Given the description of an element on the screen output the (x, y) to click on. 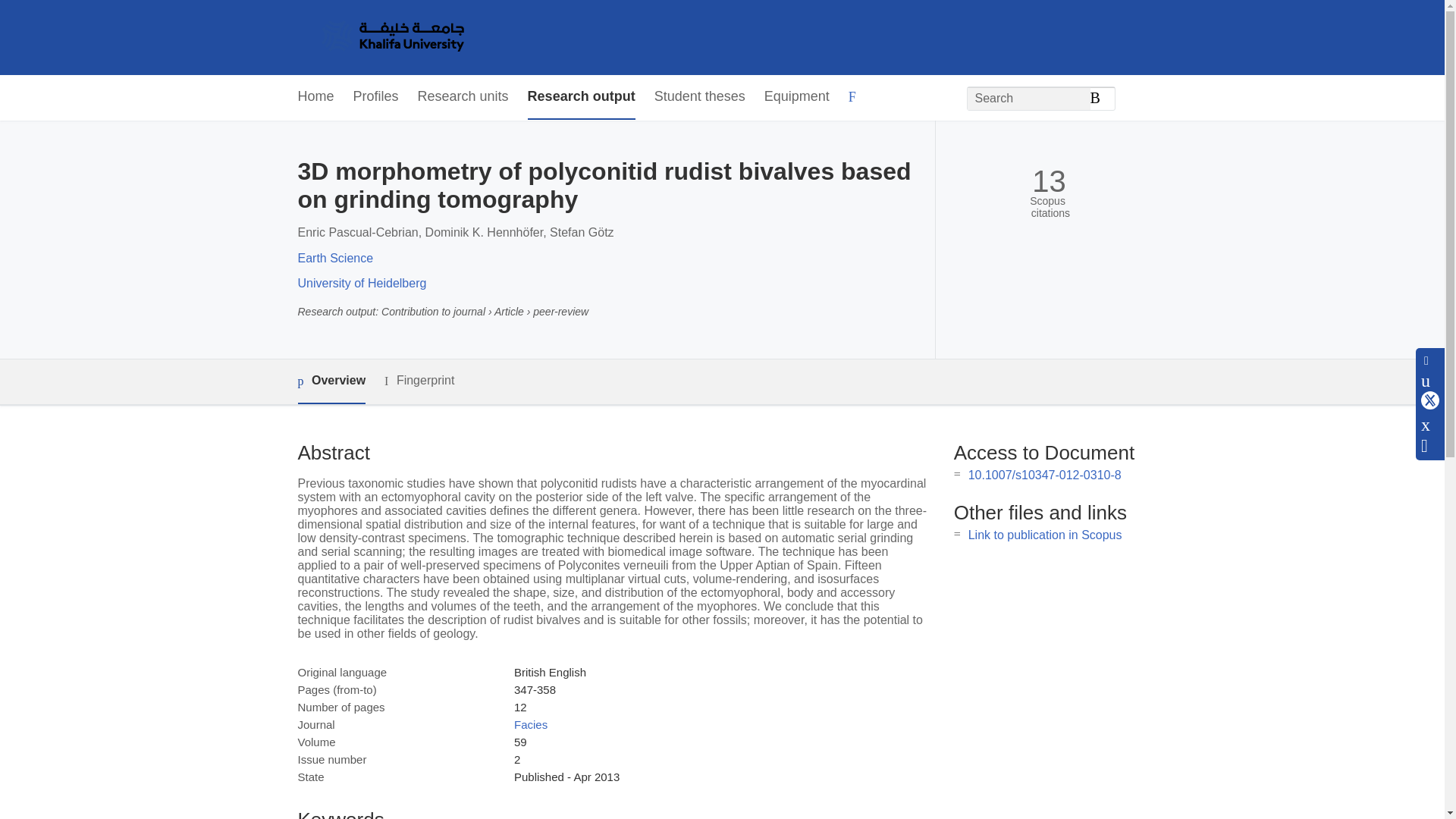
Profiles (375, 97)
Overview (331, 381)
Equipment (796, 97)
Research units (462, 97)
Facies (530, 724)
University of Heidelberg (361, 282)
Research output (580, 97)
Student theses (699, 97)
Khalifa University Home (391, 37)
